Given the description of an element on the screen output the (x, y) to click on. 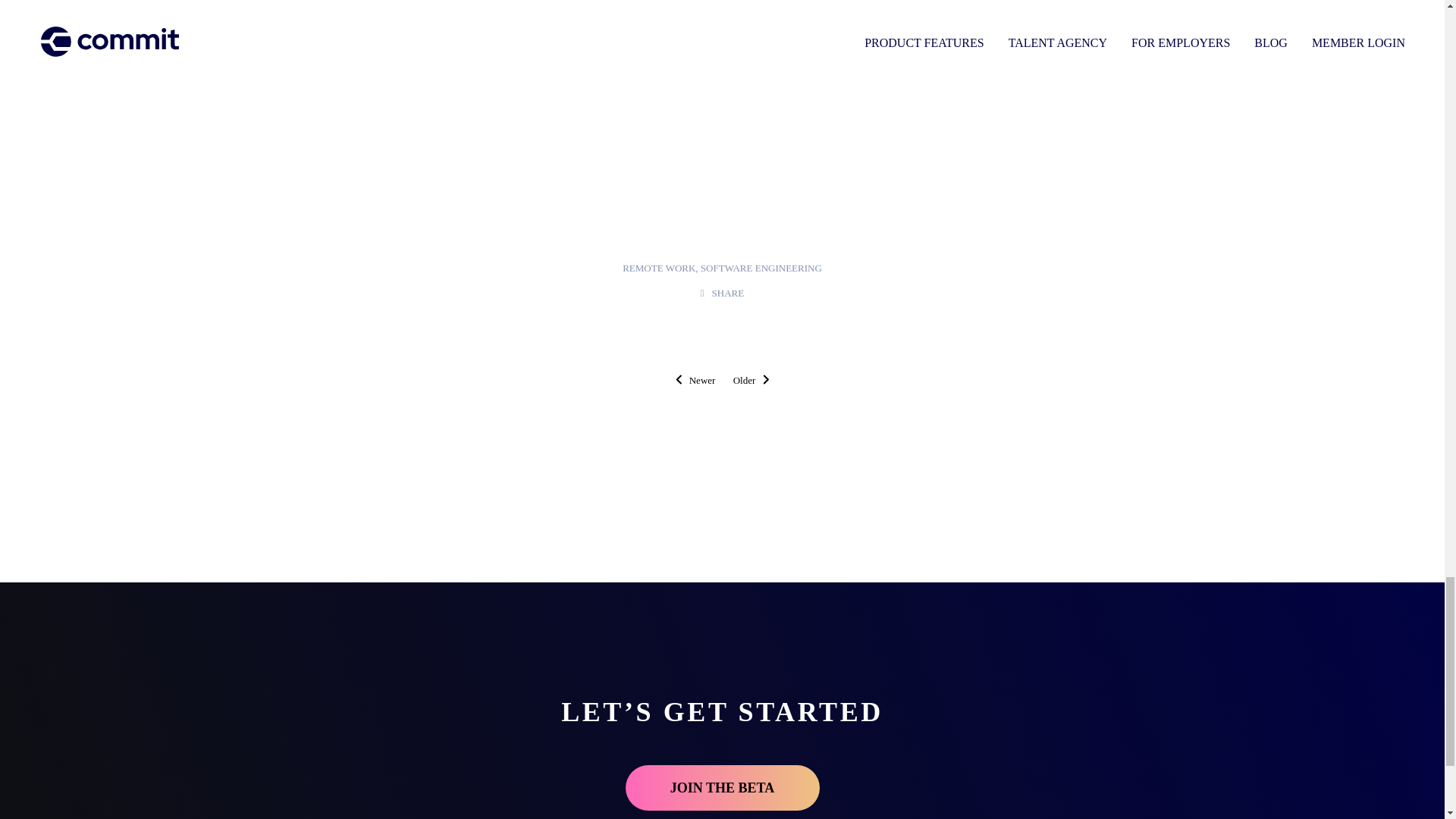
Older (751, 379)
REMOTE WORK (659, 267)
JOIN THE BETA (721, 787)
SOFTWARE ENGINEERING (761, 267)
Newer (695, 379)
SHARE (722, 292)
